Given the description of an element on the screen output the (x, y) to click on. 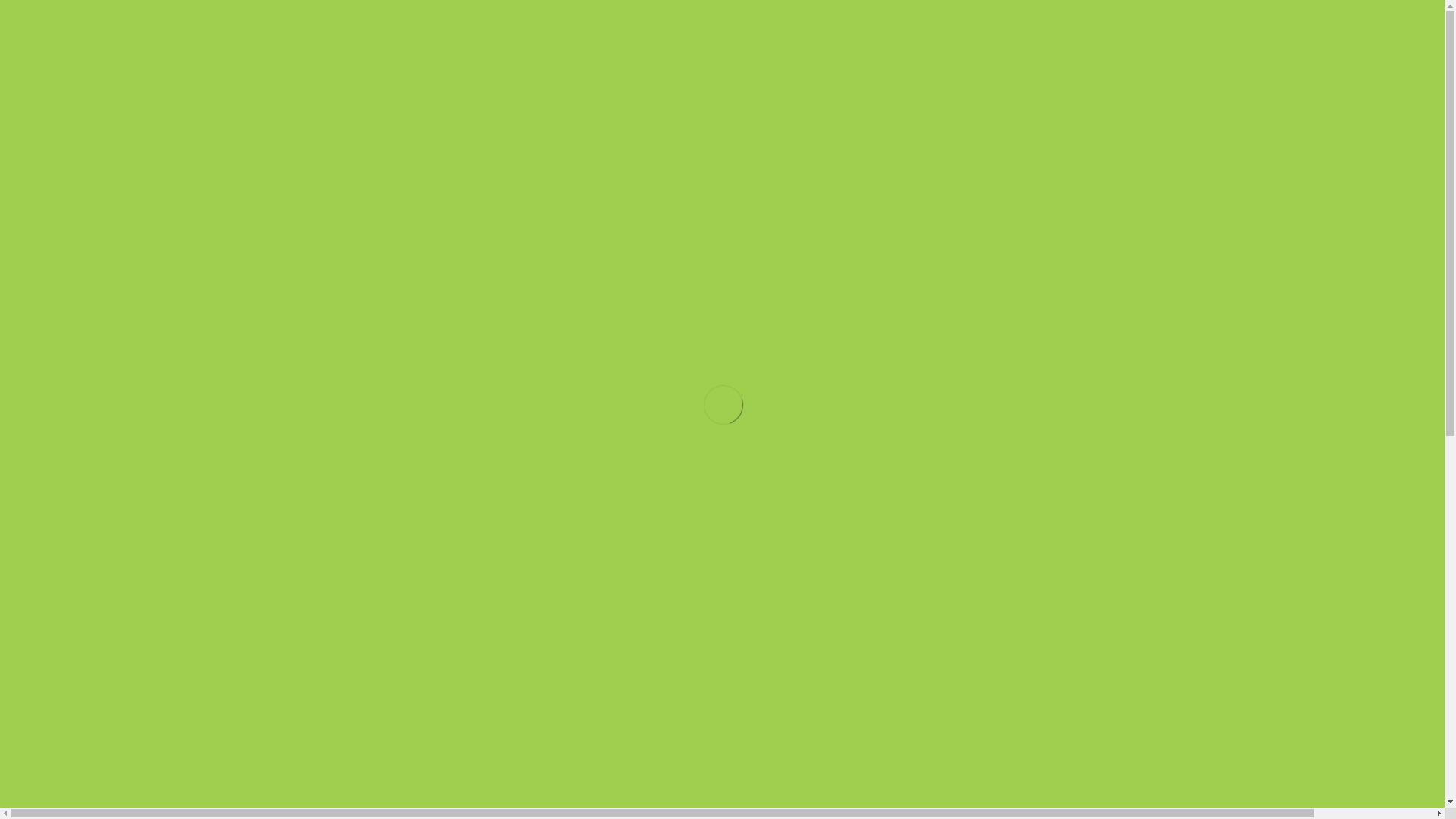
0418 445 369 Element type: text (1393, 18)
Home Element type: text (138, 240)
Testimonial Element type: text (732, 240)
TOGGLE NAVIGATION MENU Element type: text (721, 194)
Useful Links Element type: text (946, 240)
About Element type: text (1144, 240)
Contact Element type: text (1331, 240)
Locations Element type: text (524, 240)
Services Element type: text (326, 240)
